Given the description of an element on the screen output the (x, y) to click on. 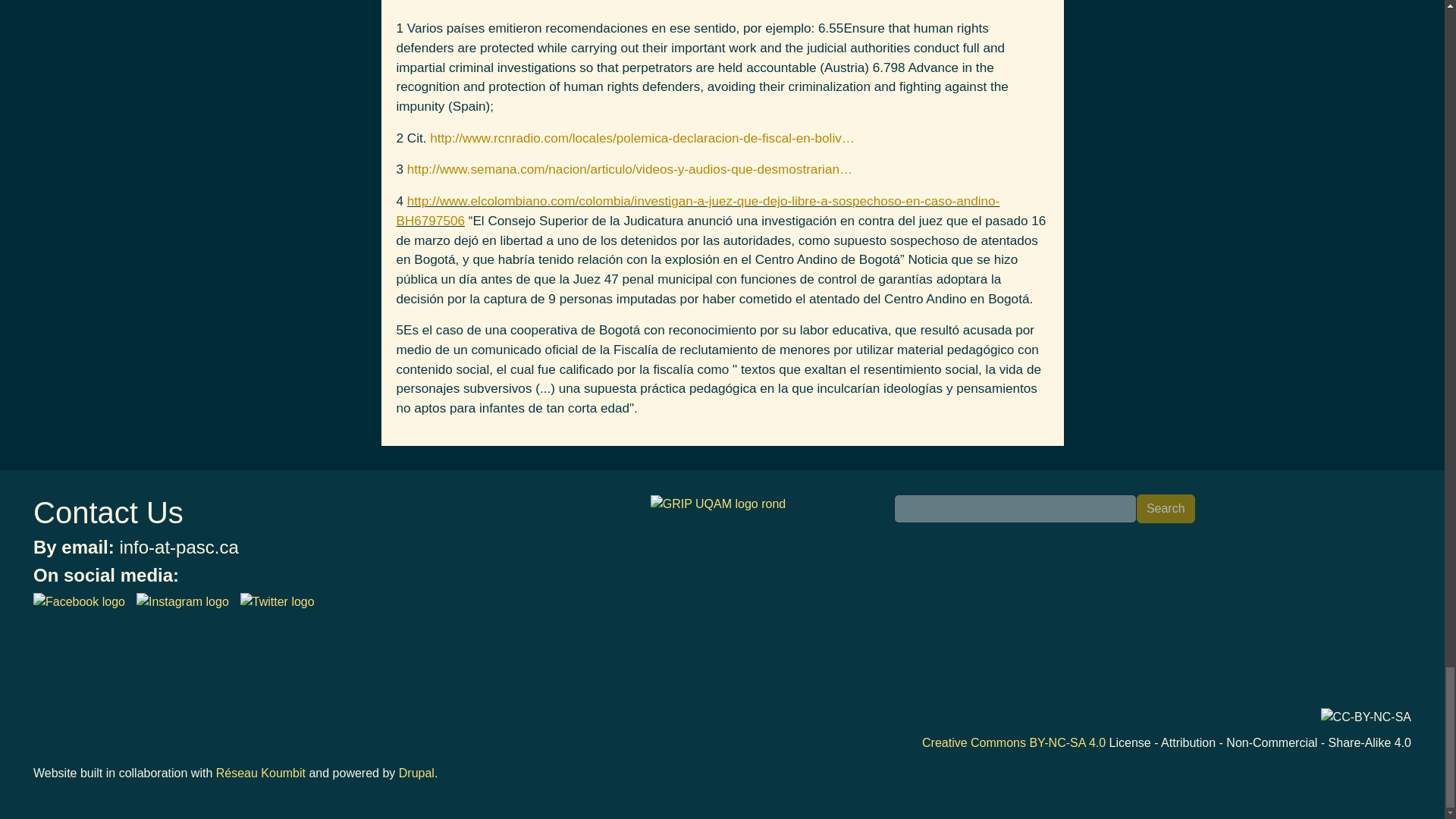
CC-BY-NC-SA (1365, 717)
GRIP UQAM logo rond (718, 504)
